Given the description of an element on the screen output the (x, y) to click on. 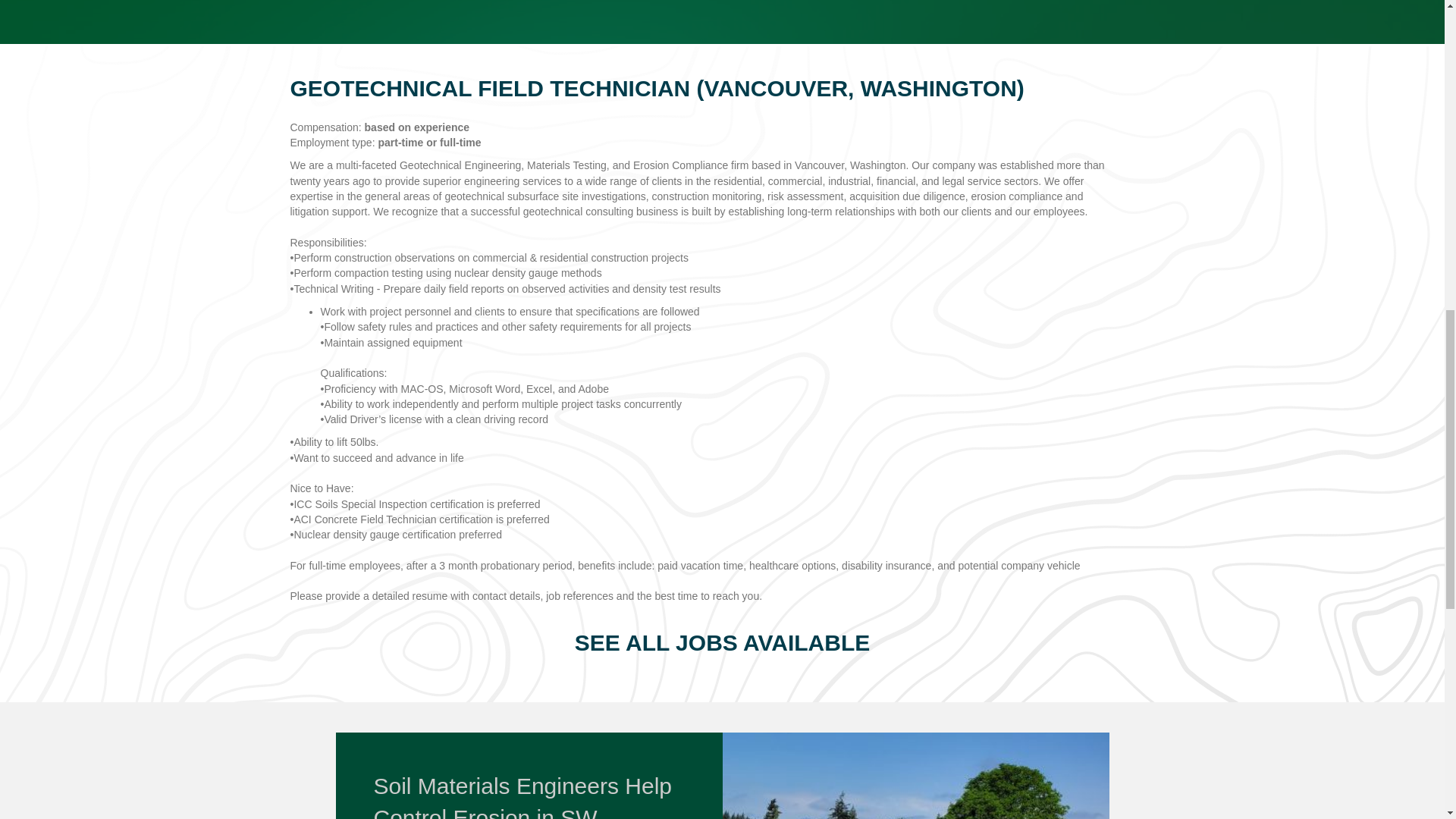
 SEE ALL JOBS AVAILABLE (722, 642)
SEE ALL JOBS AVAILABLE (722, 642)
